Given the description of an element on the screen output the (x, y) to click on. 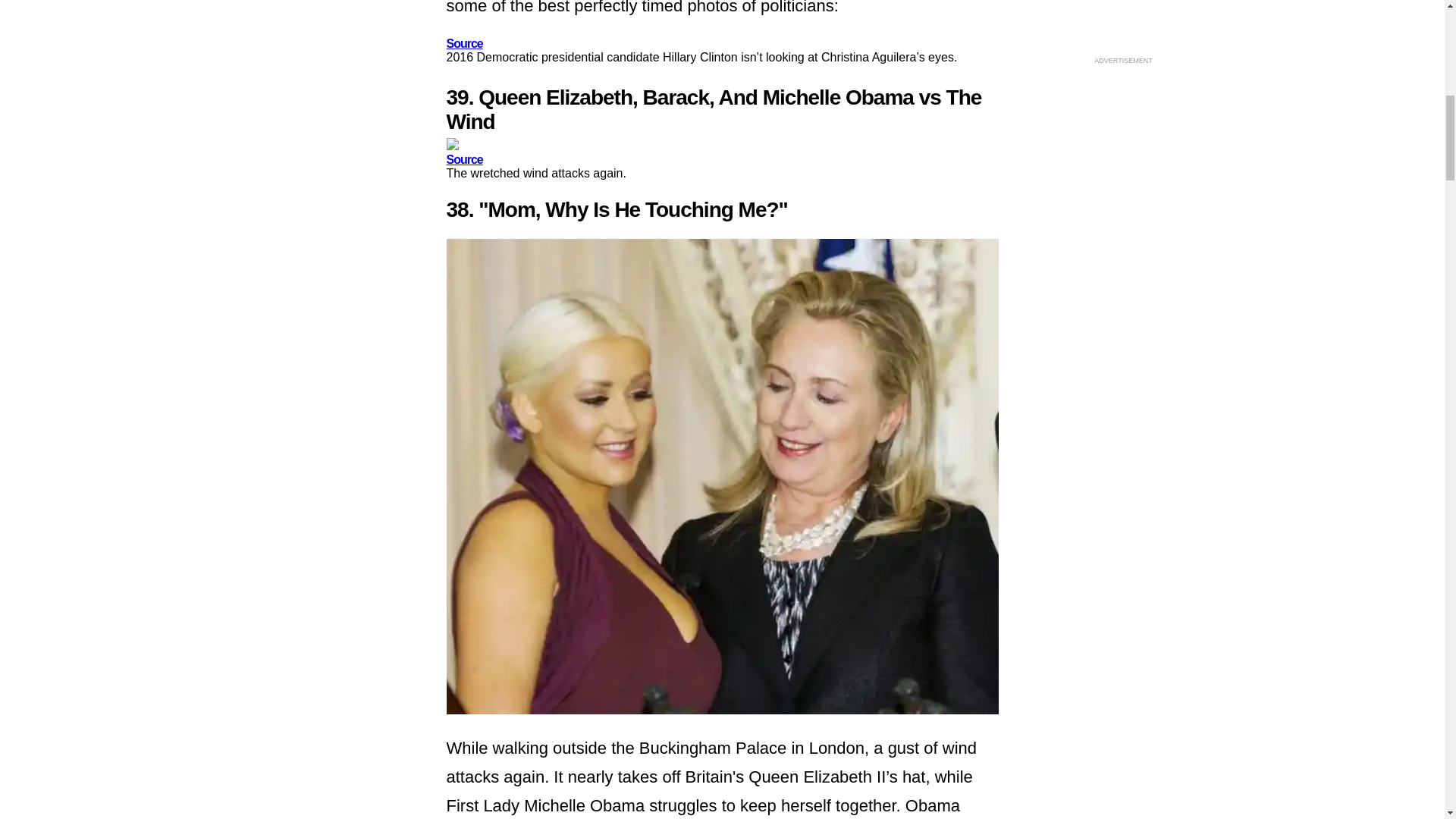
Source (463, 42)
Source (463, 159)
